Given the description of an element on the screen output the (x, y) to click on. 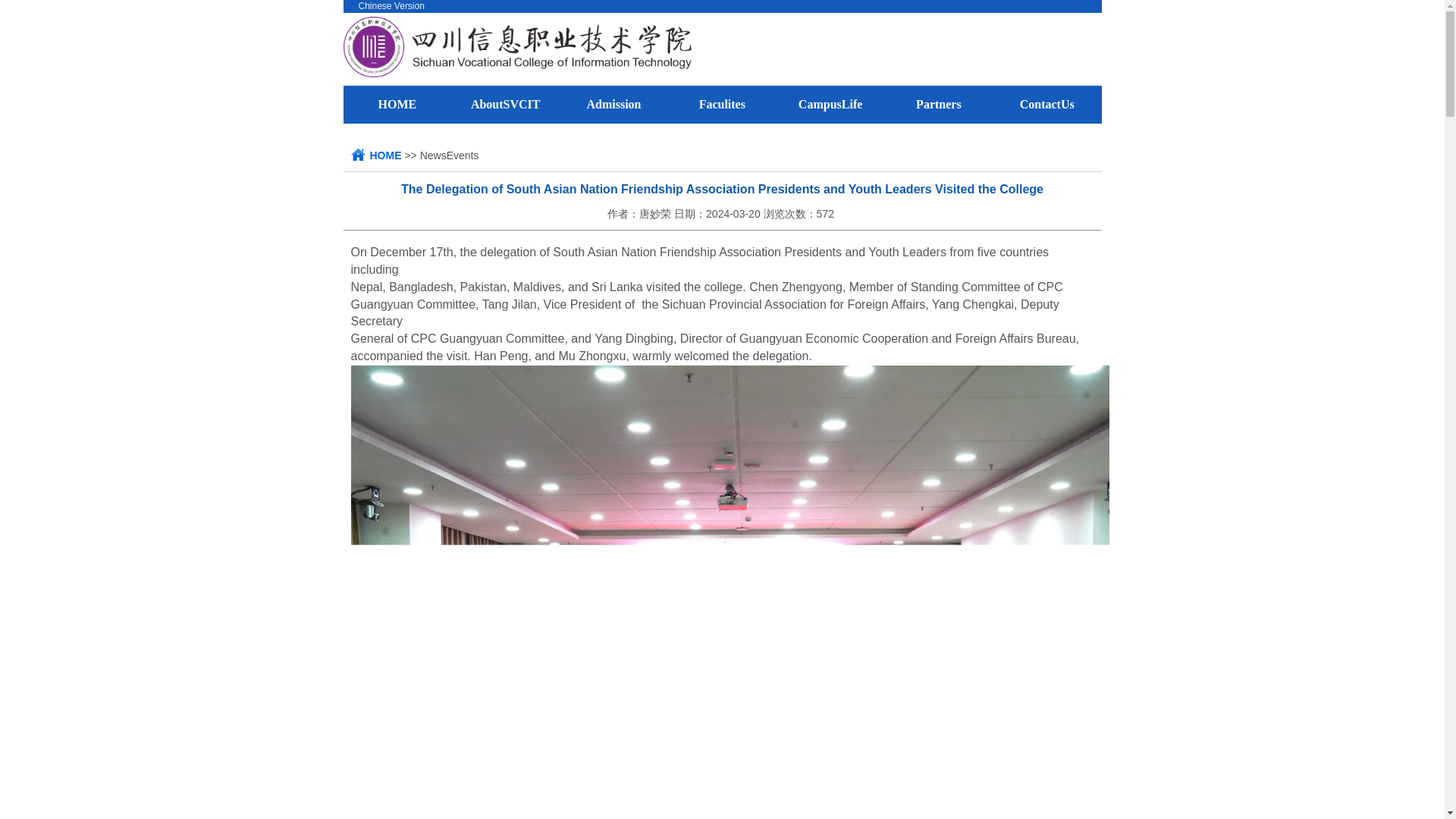
AboutSVCIT (505, 103)
HOME (385, 155)
HOME (397, 103)
Partners (937, 103)
Faculites (721, 103)
CampusLife (829, 103)
ContactUs (1047, 103)
Admission (613, 103)
Chinese Version (390, 5)
